Given the description of an element on the screen output the (x, y) to click on. 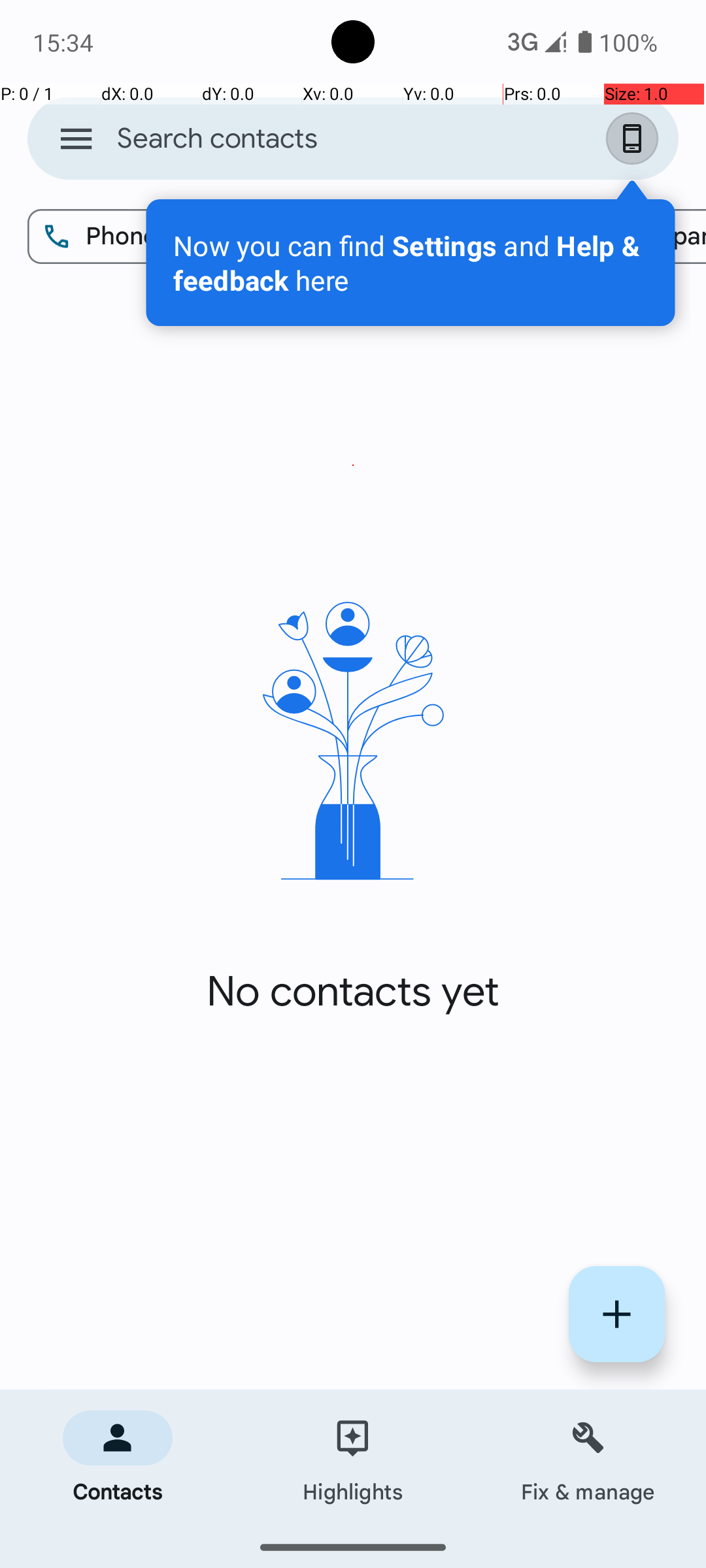
Create contact Element type: android.widget.ImageButton (616, 1314)
Contacts Element type: android.widget.FrameLayout (117, 1457)
Highlights Element type: android.widget.FrameLayout (352, 1457)
Fix & manage Element type: android.widget.FrameLayout (588, 1457)
Open navigation drawer Element type: android.widget.ImageButton (75, 138)
Signed in as Device
Account and settings. Element type: android.widget.FrameLayout (634, 138)
No contacts yet Element type: android.widget.TextView (353, 991)
Phone contacts Element type: android.widget.Button (157, 236)
Email contacts Element type: android.widget.Button (425, 236)
Now you can find Settings and Help & feedback here
Open account and settings. Element type: android.view.ViewGroup (409, 262)
Now you can find Settings and Help & feedback here Element type: android.widget.TextView (410, 262)
